Given the description of an element on the screen output the (x, y) to click on. 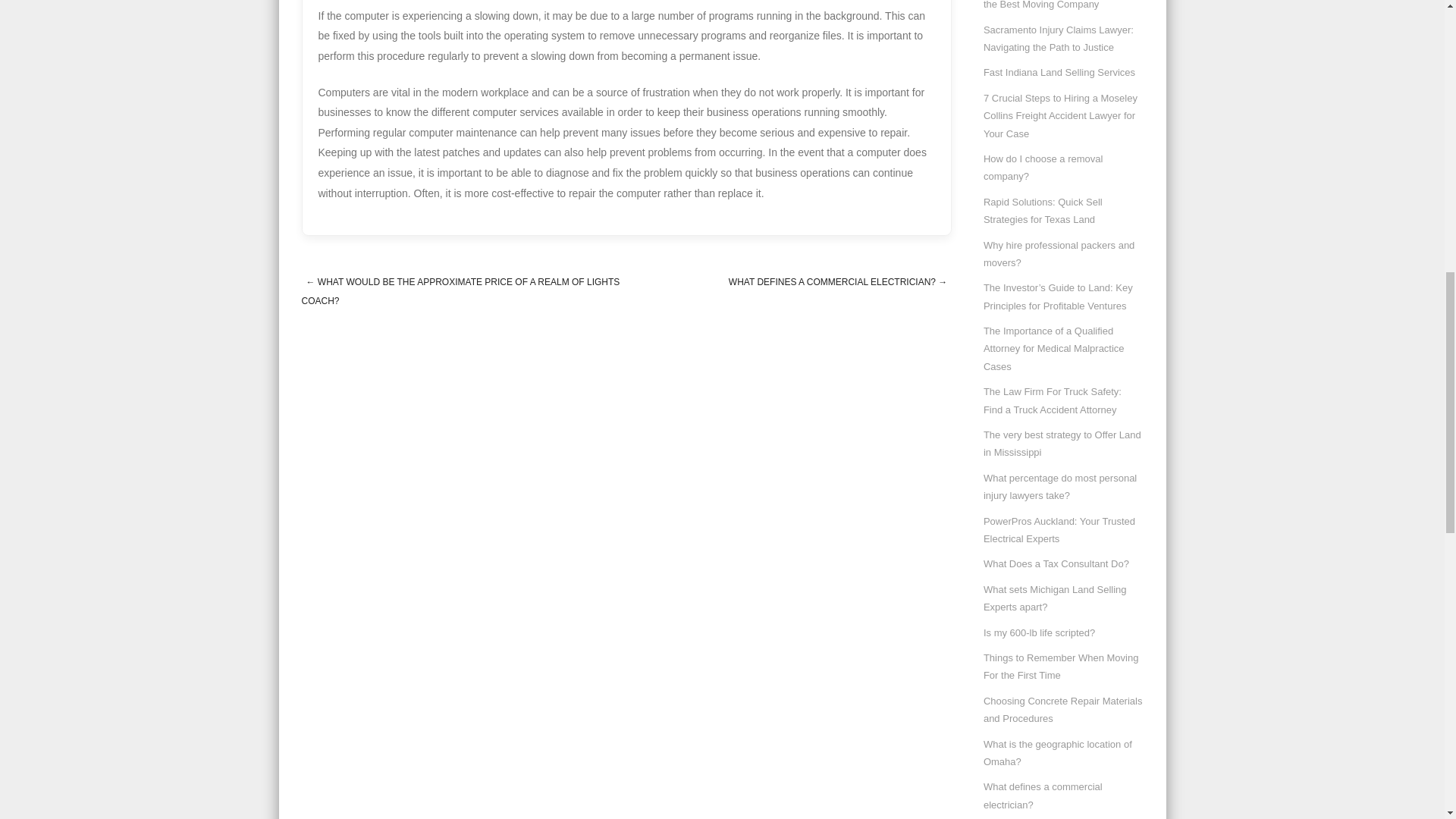
Rapid Solutions: Quick Sell Strategies for Texas Land (1043, 210)
Fast Indiana Land Selling Services (1059, 71)
How do I choose a removal company? (1043, 167)
Why hire professional packers and movers? (1059, 253)
The Ultimate Checklist: Selecting the Best Moving Company (1056, 4)
